Given the description of an element on the screen output the (x, y) to click on. 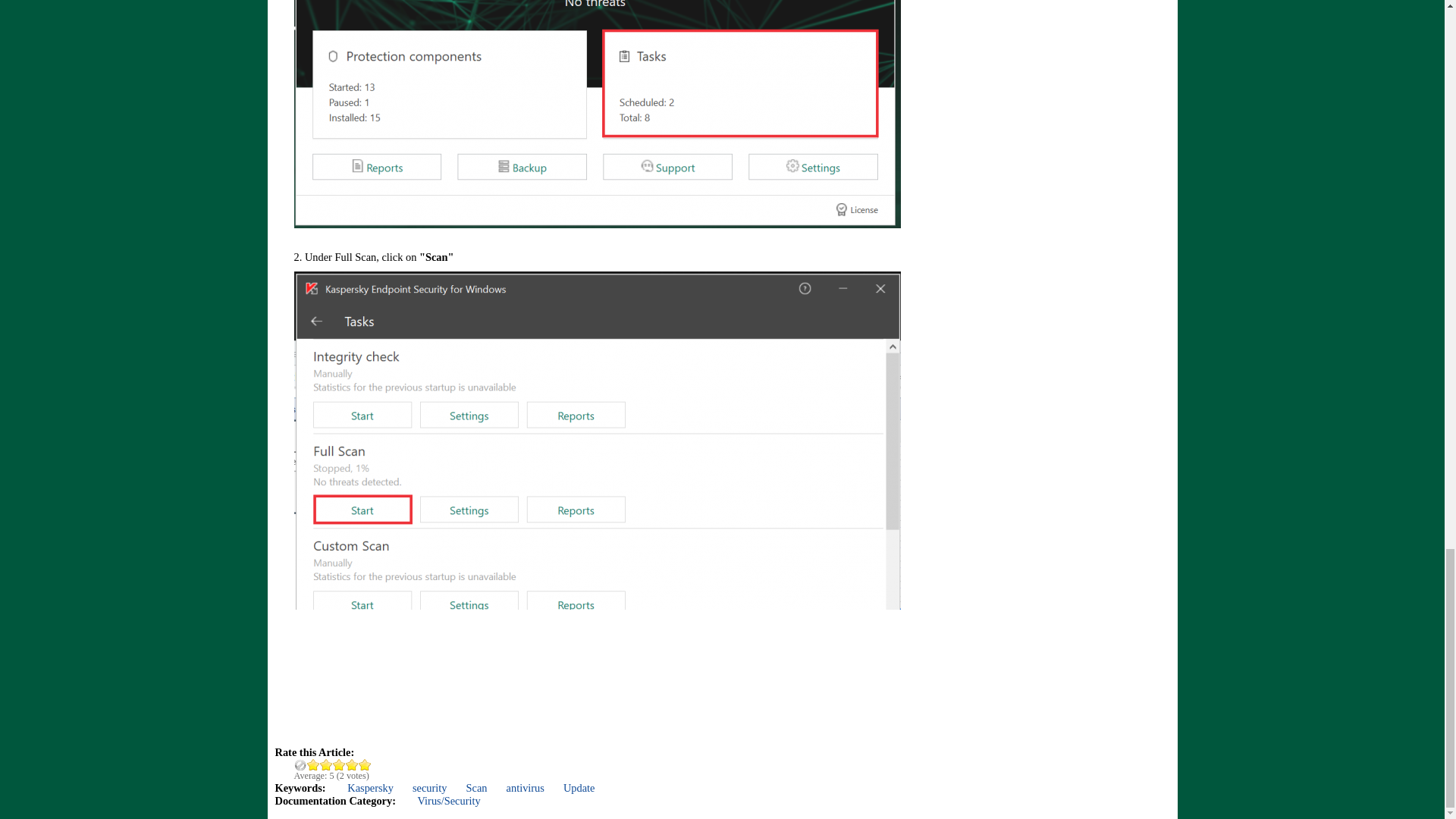
security (429, 787)
Kaspersky (370, 787)
Cancel rating (300, 764)
Cancel rating (300, 764)
antivirus (525, 787)
Scan (476, 787)
Update (579, 787)
